Given the description of an element on the screen output the (x, y) to click on. 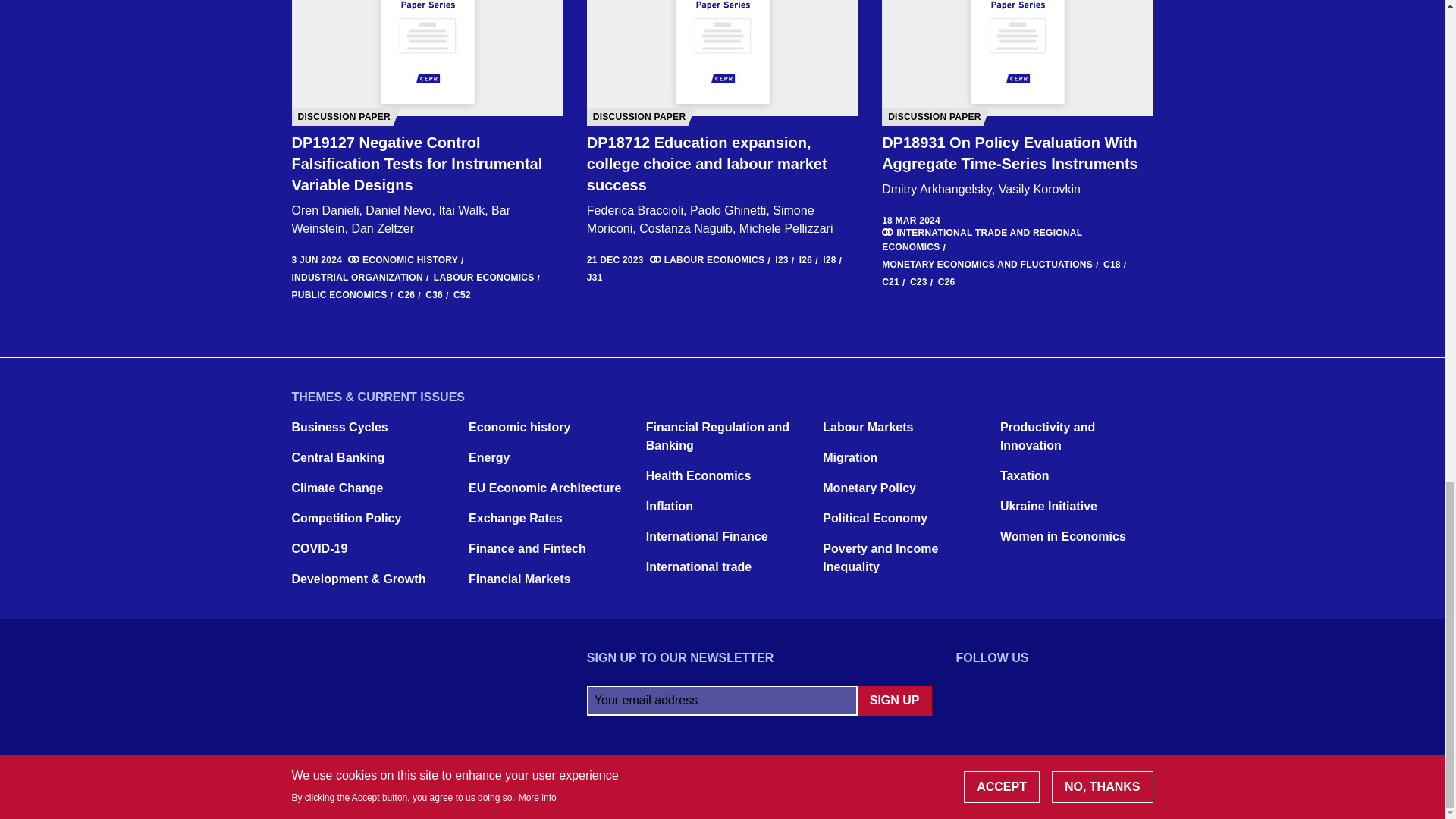
sign up (894, 700)
